Given the description of an element on the screen output the (x, y) to click on. 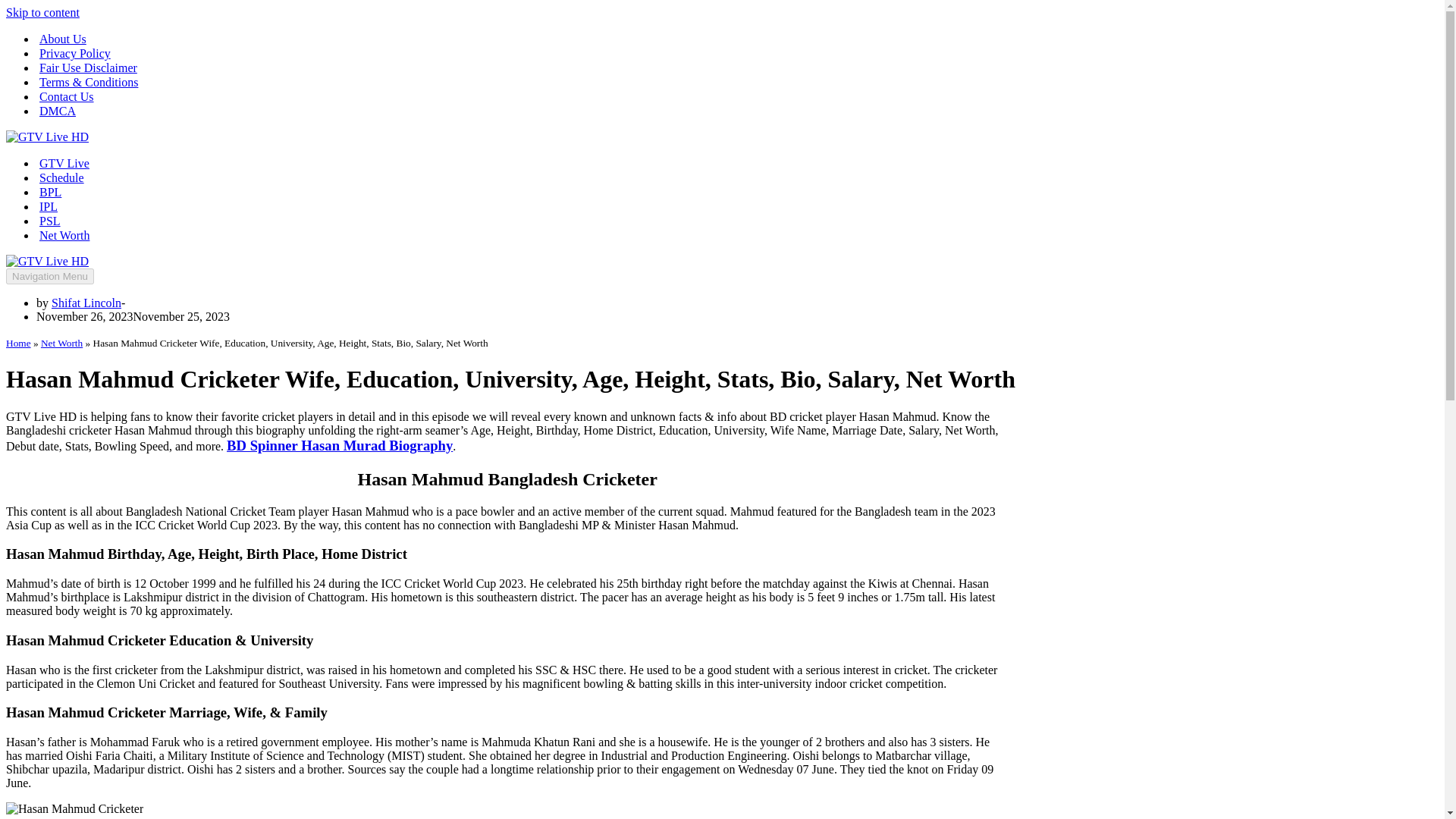
Privacy Policy (74, 52)
About Us (62, 38)
Navigation Menu (49, 276)
DMCA (57, 110)
Skip to content (42, 11)
PSL (50, 220)
Fair Use Disclaimer (87, 67)
Home (17, 342)
Contact Us (66, 96)
Schedule (61, 177)
Shifat Lincoln (85, 302)
IPL (48, 206)
GTV Live (63, 163)
Net Worth (63, 235)
Posts by Shifat Lincoln (85, 302)
